Given the description of an element on the screen output the (x, y) to click on. 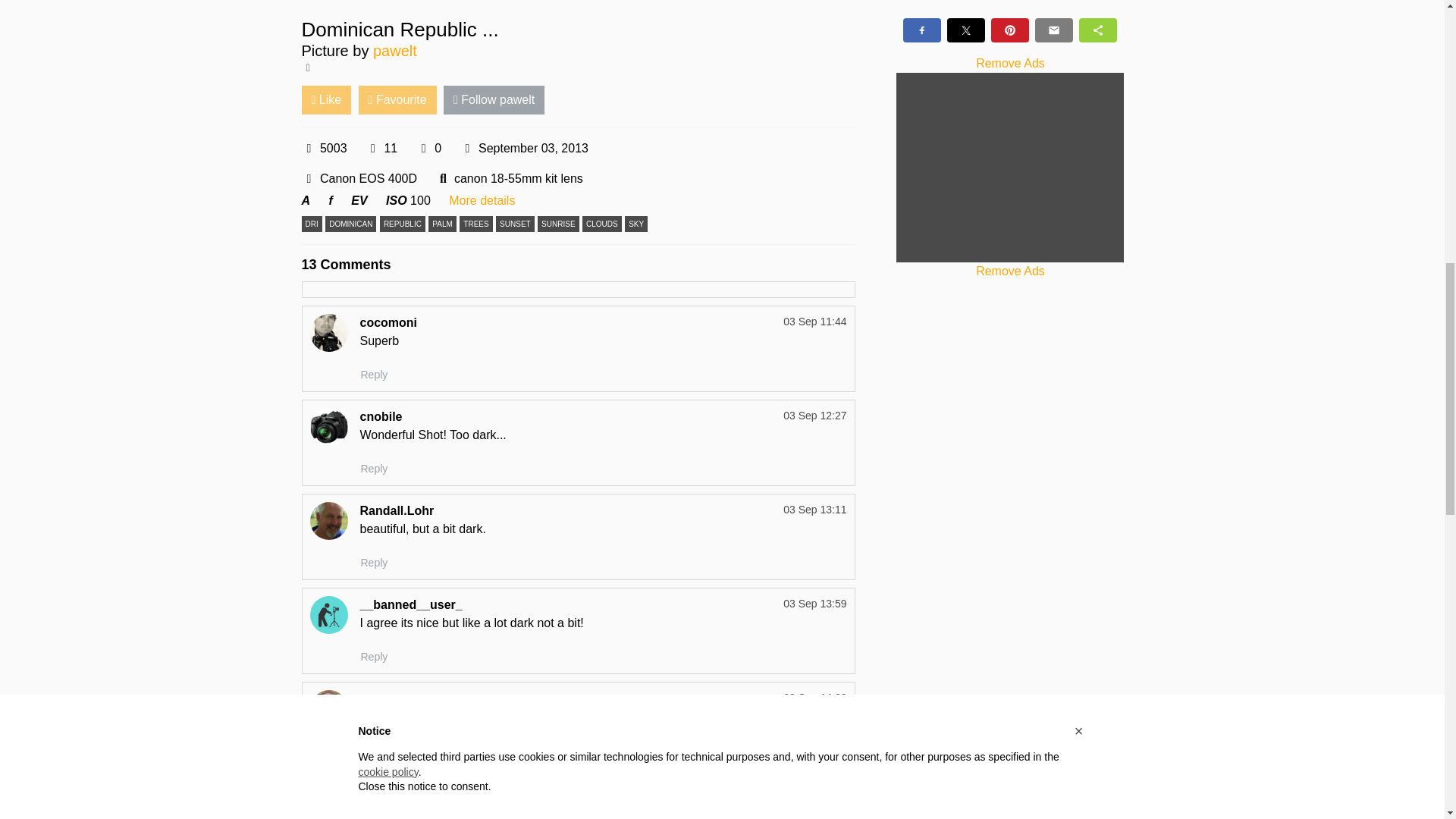
Reply (373, 656)
Favourite (397, 99)
Exposure Value (358, 200)
Reply (373, 562)
Follow pawelt (494, 99)
More details (481, 200)
September 03, 2013 13:11 (814, 509)
September 03, 2013 11:44 (814, 321)
views (309, 148)
Like (326, 99)
published (468, 148)
Reply (373, 468)
September 03, 2013 07:29 (524, 148)
Reply (373, 375)
September 03, 2013 12:27 (814, 415)
